Given the description of an element on the screen output the (x, y) to click on. 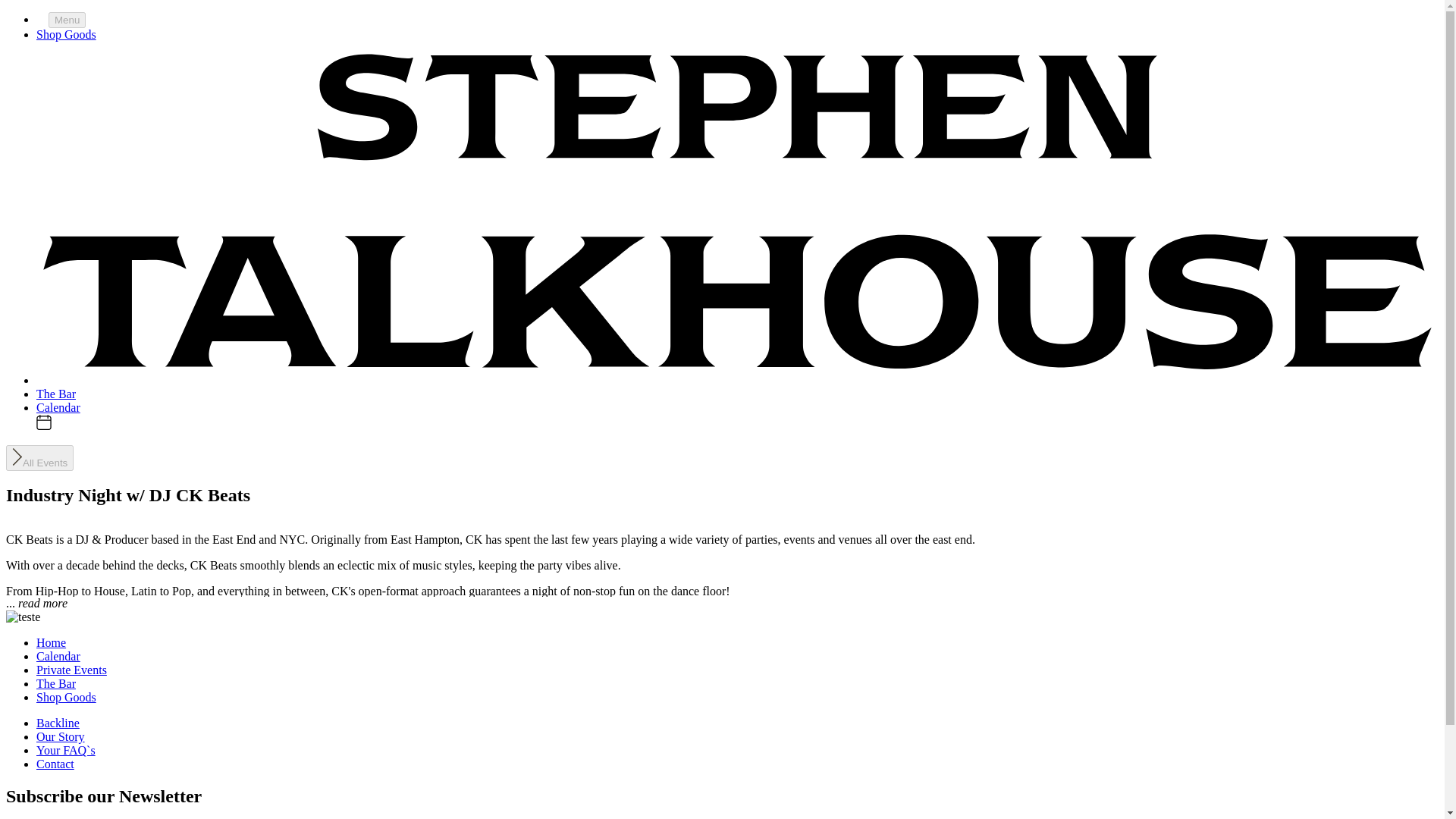
The Bar (55, 683)
Our Story (60, 736)
Backline (58, 722)
Menu (66, 19)
Calendar (58, 406)
The Bar (55, 392)
Home (50, 642)
Shop Goods (66, 697)
Private Events (71, 669)
All Events (39, 457)
